Given the description of an element on the screen output the (x, y) to click on. 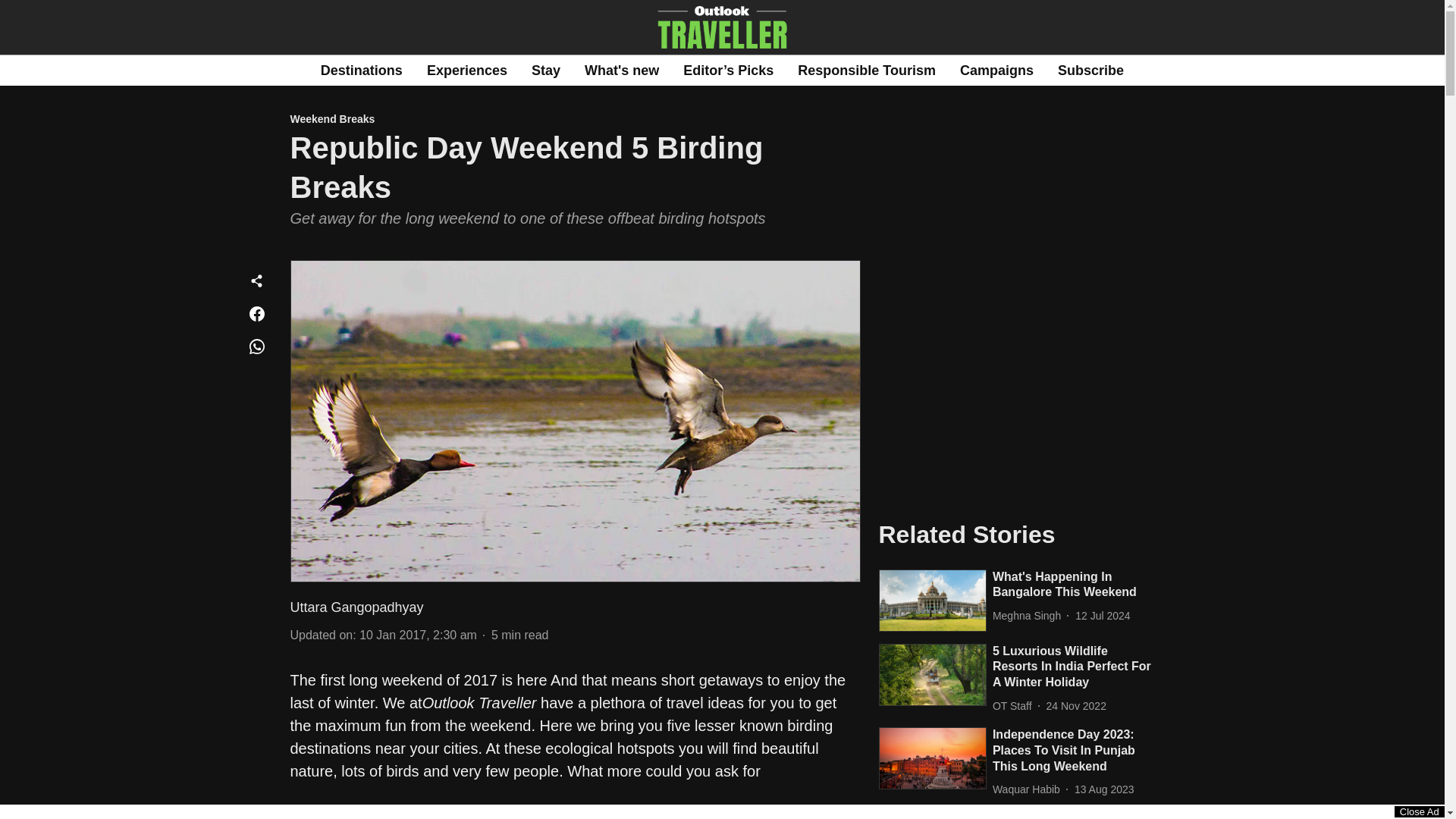
Responsible Tourism (866, 70)
2024-07-12 11:00 (1102, 616)
Uttara Gangopadhyay (356, 607)
Stay (545, 70)
3rd party ad content (1015, 384)
Subscribe (1091, 70)
What's new (622, 70)
Experiences (466, 70)
2022-11-24 11:26 (1076, 706)
Weekend Breaks (574, 119)
2023-08-13 06:30 (1104, 789)
Destinations (361, 70)
